Given the description of an element on the screen output the (x, y) to click on. 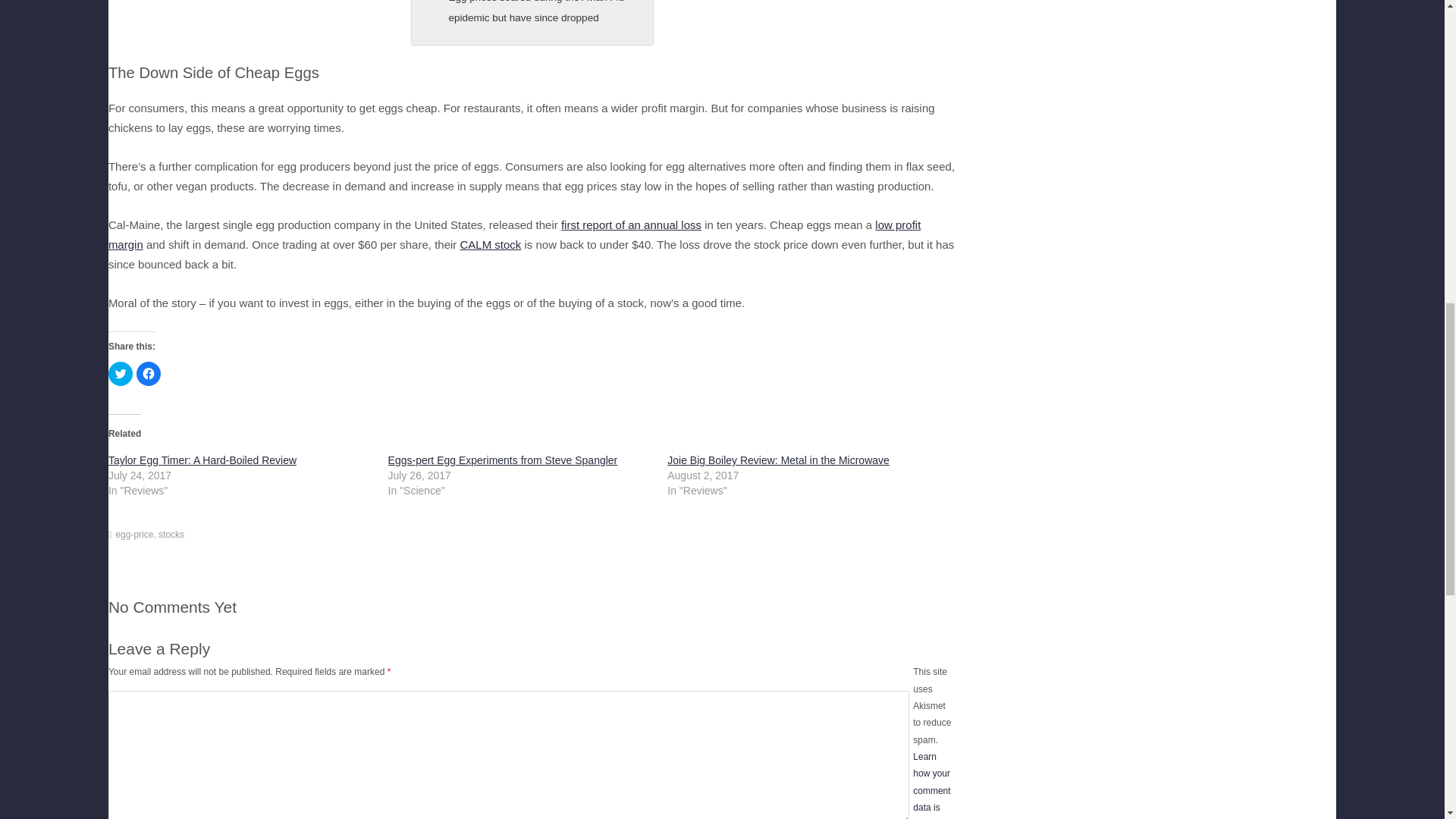
first report of an annual loss (630, 224)
low profit margin (513, 234)
Click to share on Facebook (148, 373)
Joie Big Boiley Review: Metal in the Microwave (777, 460)
Click to share on Twitter (119, 373)
Taylor Egg Timer: A Hard-Boiled Review (202, 460)
egg-price (133, 534)
Eggs-pert Egg Experiments from Steve Spangler (502, 460)
stocks (171, 534)
CALM stock (490, 244)
Joie Big Boiley Review: Metal in the Microwave (777, 460)
Learn how your comment data is processed (528, 785)
Taylor Egg Timer: A Hard-Boiled Review (202, 460)
Eggs-pert Egg Experiments from Steve Spangler (502, 460)
